Given the description of an element on the screen output the (x, y) to click on. 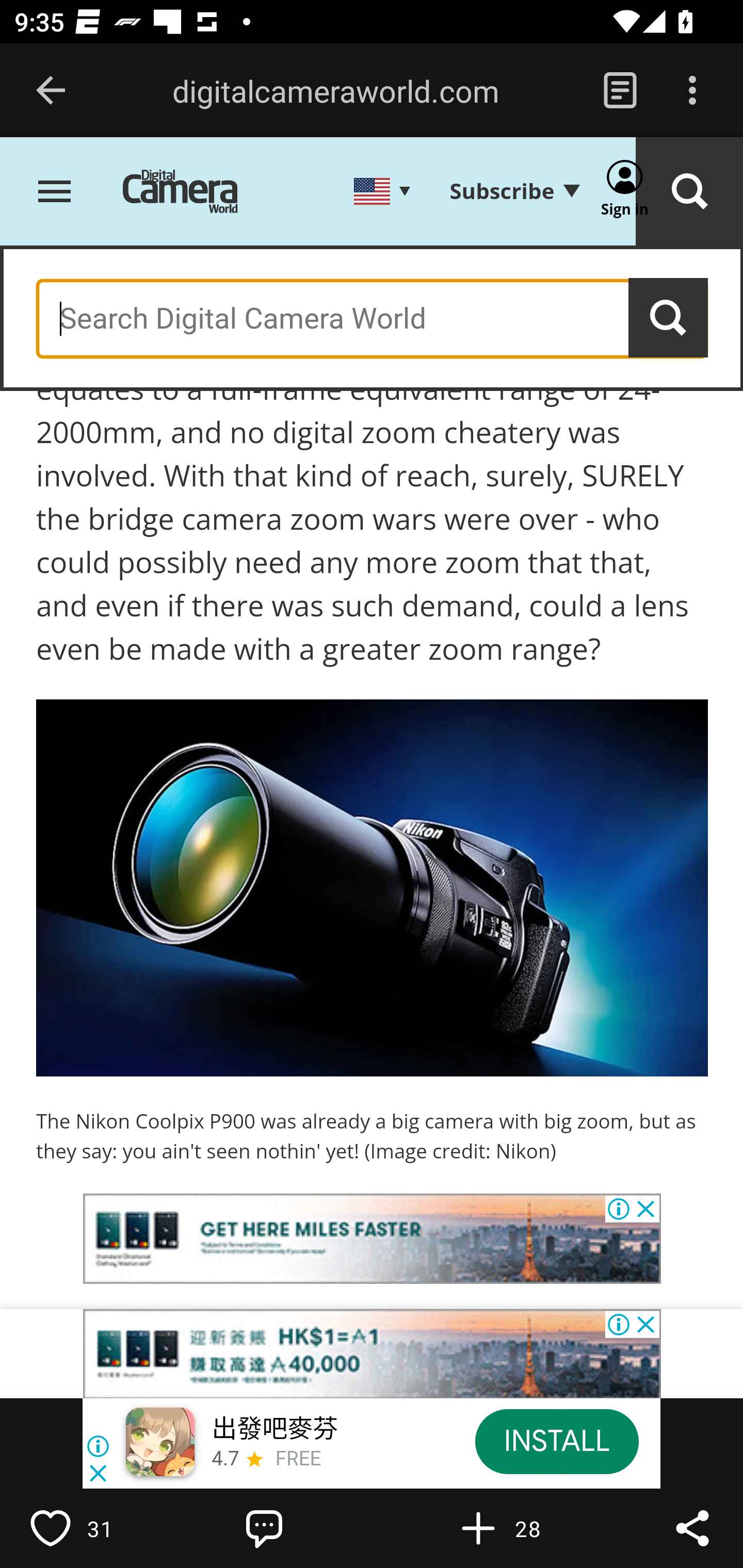
Back (50, 90)
Reader View (619, 90)
Options (692, 90)
Open menu (54, 192)
Digital Camera World (194, 192)
Sign in (625, 192)
Search (689, 192)
Subscribe (514, 191)
Search (668, 318)
bridge camera (349, 1354)
INSTALL (556, 1441)
出發吧麥芬 (274, 1429)
Like 31 (93, 1528)
Write a comment… (307, 1528)
Flip into Magazine 28 (521, 1528)
Share (692, 1528)
